Given the description of an element on the screen output the (x, y) to click on. 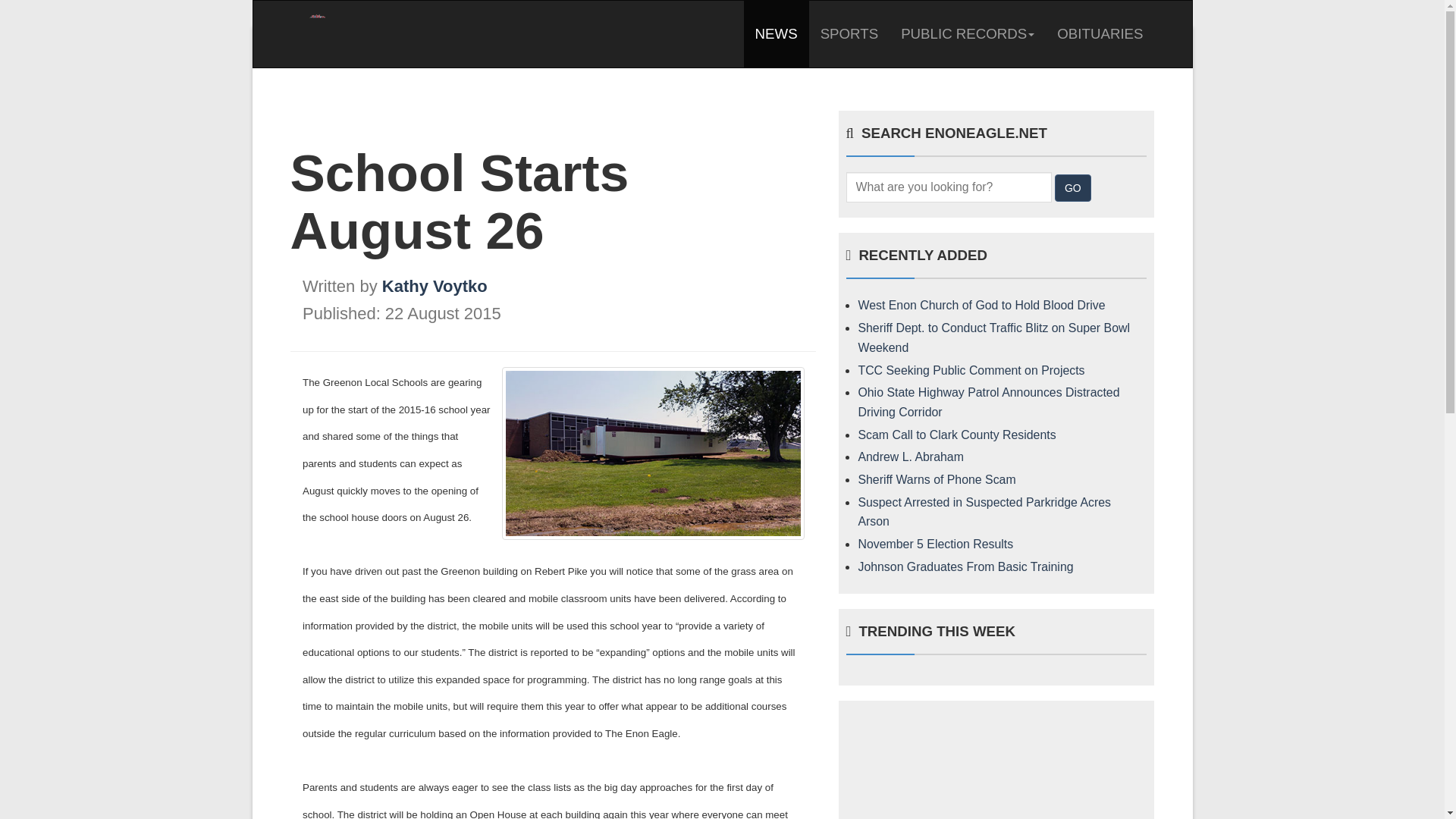
Suspect Arrested in Suspected Parkridge Acres Arson (983, 512)
West Enon Church of God to Hold Blood Drive (981, 305)
TCC Seeking Public Comment on Projects (970, 369)
Advertisement (996, 767)
GO (1072, 188)
Johnson Graduates From Basic Training (965, 566)
NEWS (776, 33)
Andrew L. Abraham (909, 456)
OBITUARIES (1099, 33)
Scam Call to Clark County Residents (956, 434)
